Given the description of an element on the screen output the (x, y) to click on. 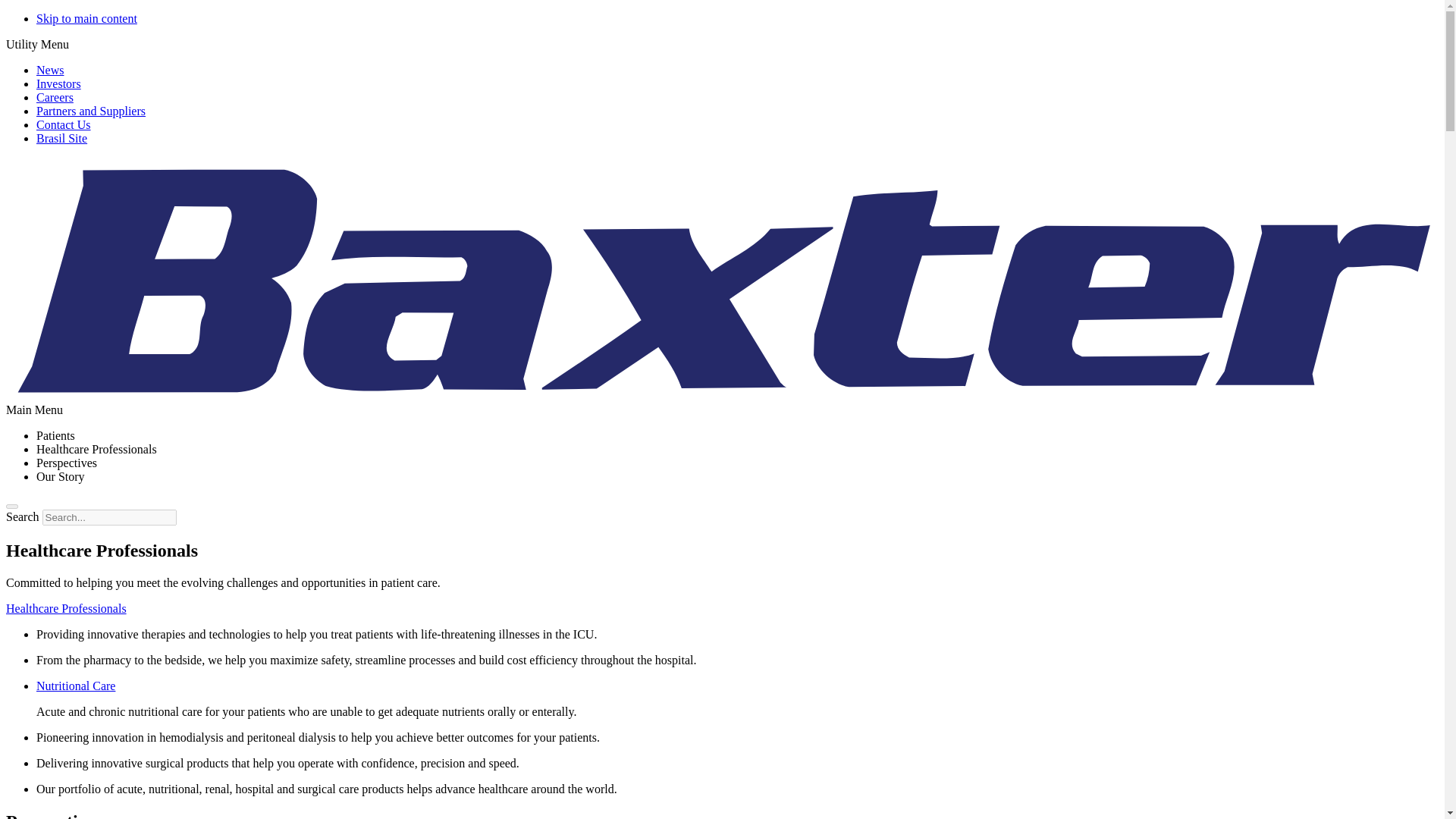
Perspectives (66, 462)
Careers (55, 97)
Brasil Site (61, 137)
Investors (58, 83)
Contact Us (63, 124)
Nutritional Care (75, 685)
Partners and Suppliers (90, 110)
Healthcare Professionals (65, 608)
News (50, 69)
Patients (55, 435)
Healthcare Professionals (96, 449)
Skip to main content (86, 18)
Our Story (60, 476)
